Given the description of an element on the screen output the (x, y) to click on. 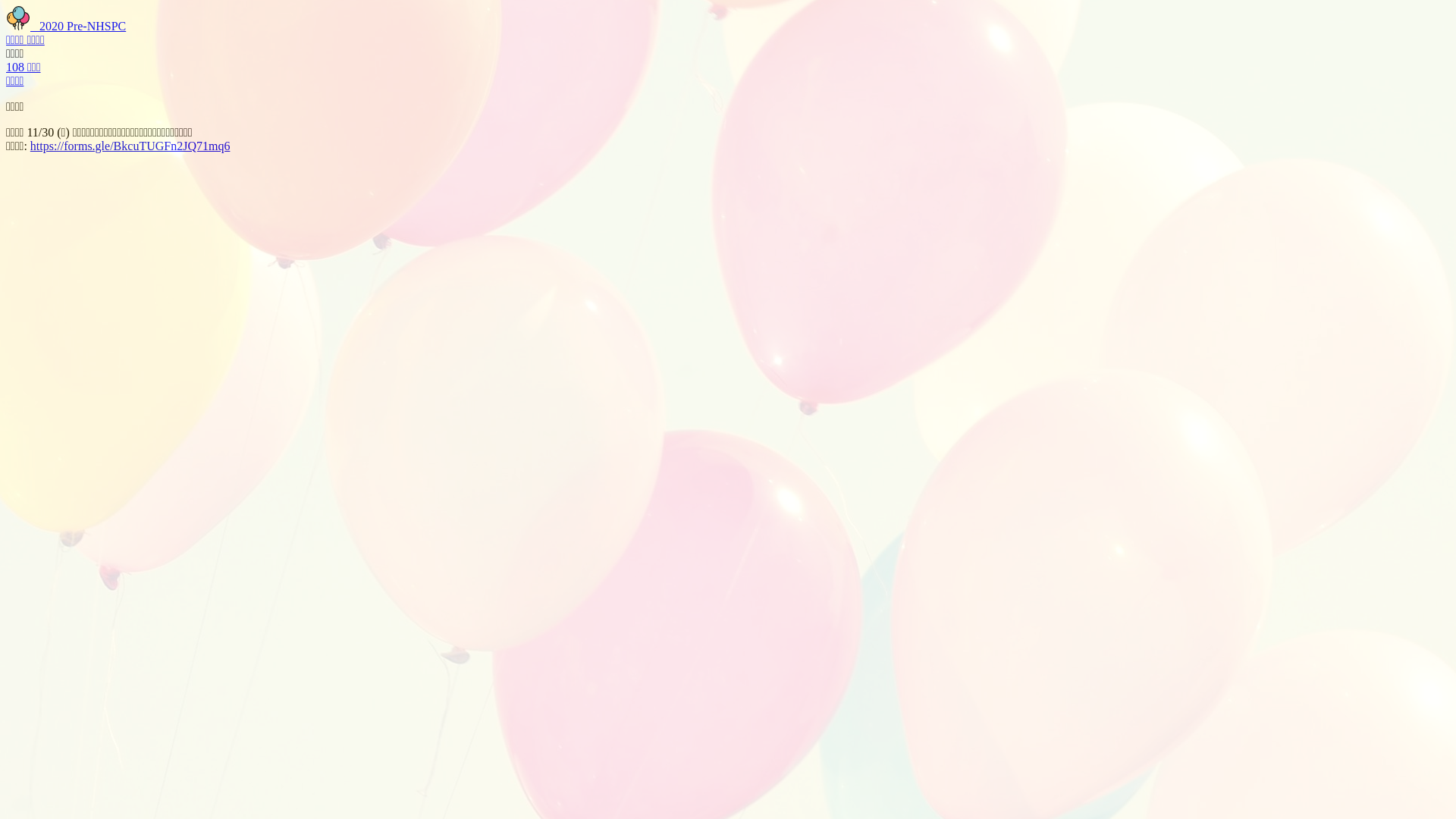
  2020 Pre-NHSPC Element type: text (65, 25)
https://forms.gle/BkcuTUGFn2JQ71mq6 Element type: text (130, 145)
